Given the description of an element on the screen output the (x, y) to click on. 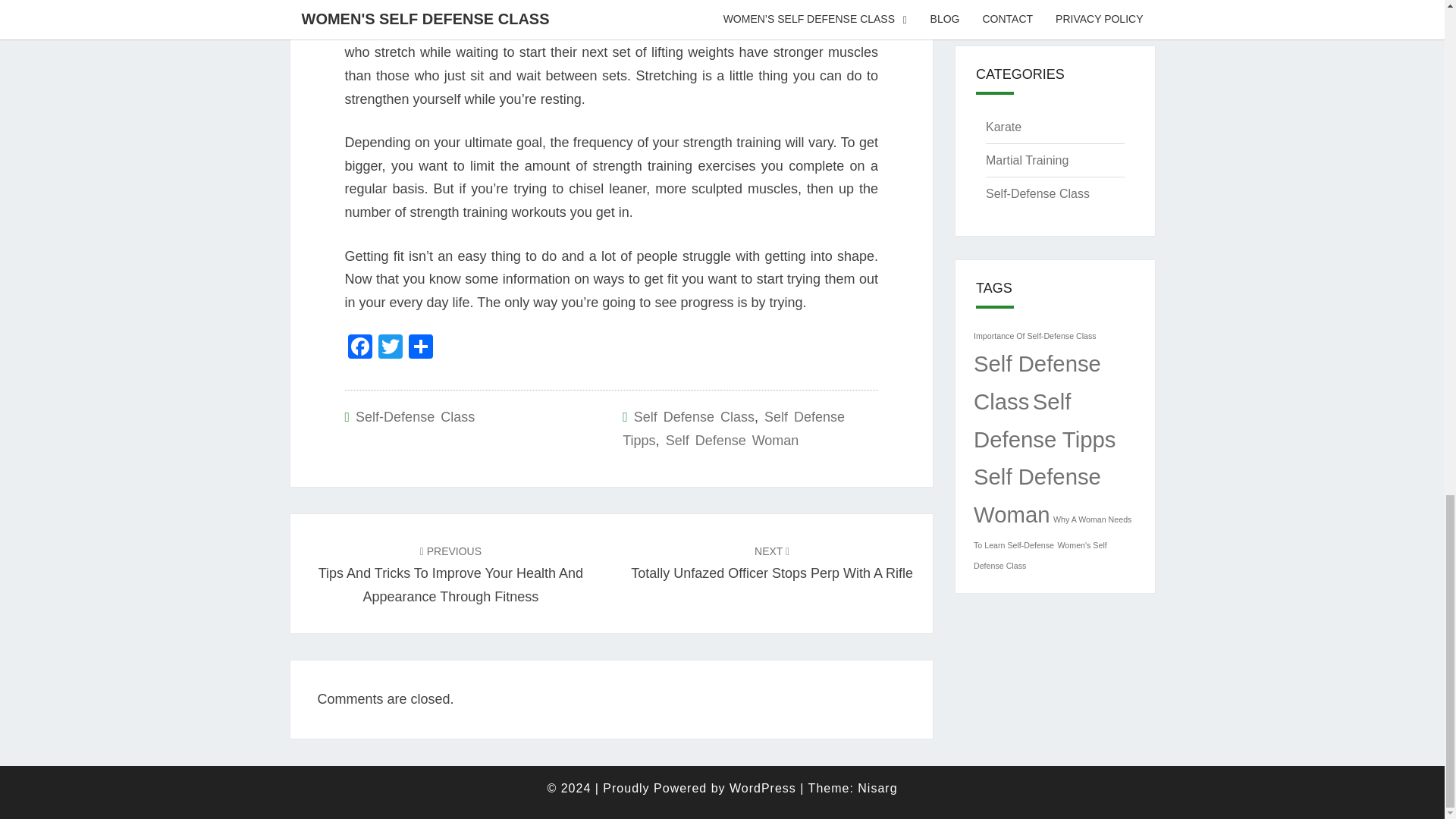
Self Defense Woman (1037, 495)
Self-Defense Class (1037, 193)
Self Defense Tipps (733, 428)
Twitter (389, 348)
Twitter (389, 348)
Self-Defense Class (414, 417)
Women's Self Defense Class (1040, 555)
Share (419, 348)
Self Defense Class (693, 417)
Martial Training (1026, 160)
Importance Of Self-Defense Class (1035, 335)
Self Defense Class (1037, 382)
Self Defense Tipps (771, 561)
Facebook (1044, 420)
